Given the description of an element on the screen output the (x, y) to click on. 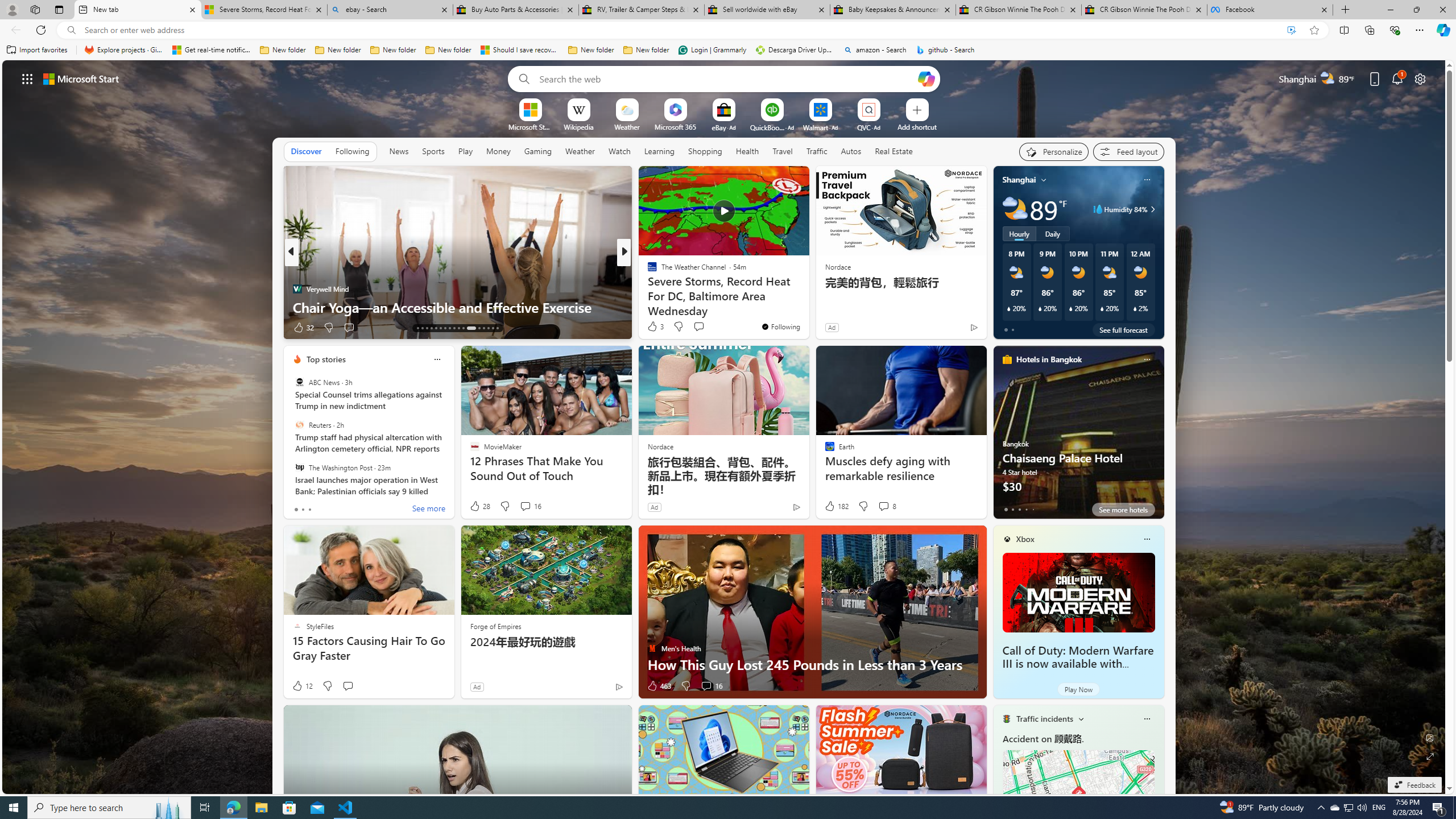
Edit Background (1430, 737)
AutomationID: tab-14 (422, 328)
Partly cloudy (1014, 208)
AutomationID: tab-22 (458, 328)
116 Like (654, 327)
View comments 167 Comment (709, 327)
Weather (579, 151)
Traffic (816, 151)
Shopping (705, 151)
AutomationID: tab-15 (426, 328)
